Given the description of an element on the screen output the (x, y) to click on. 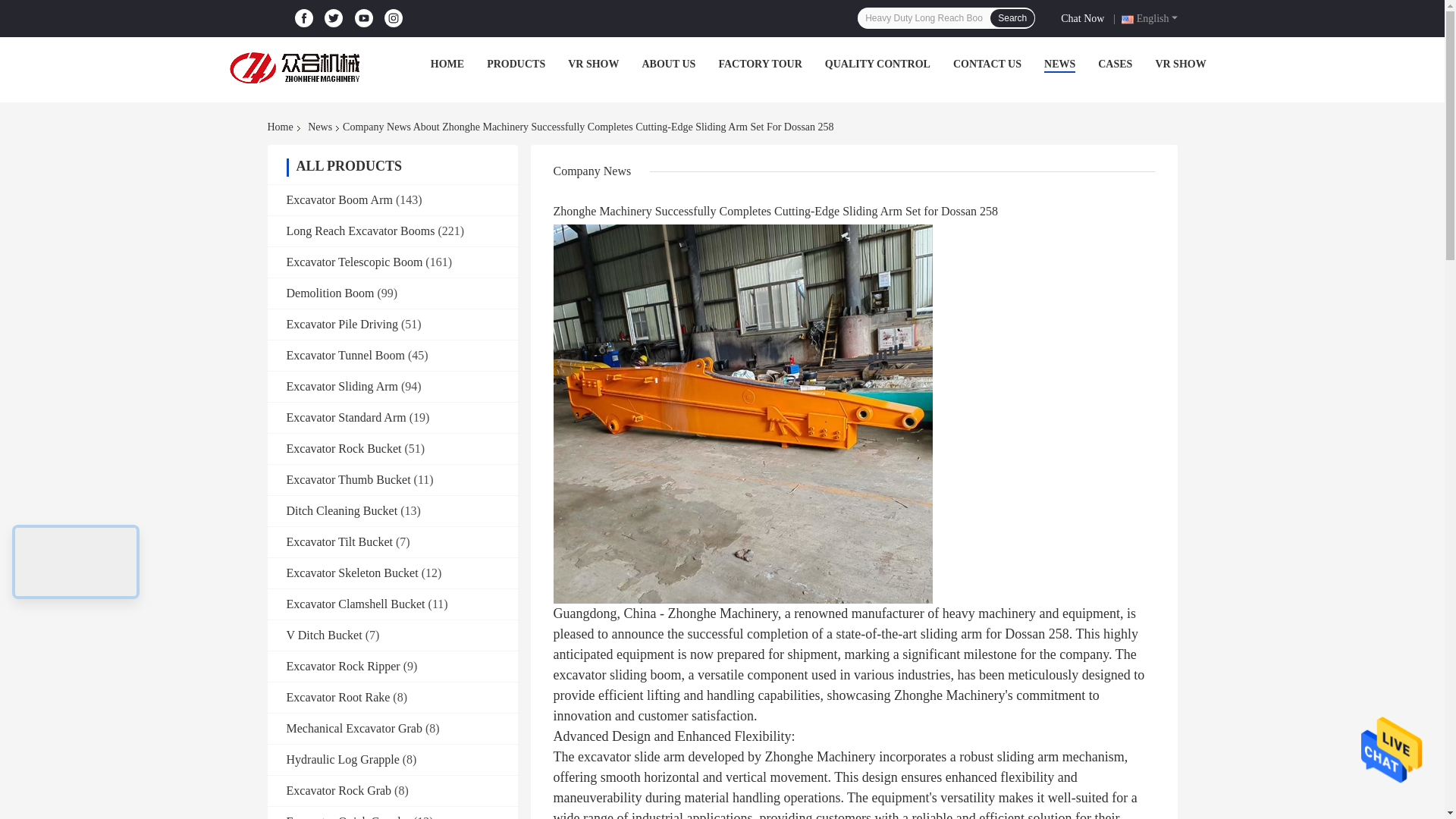
VR SHOW (1179, 63)
Search (1011, 18)
CASES (1114, 63)
QUALITY CONTROL (877, 63)
Home (282, 127)
HOME (447, 63)
PRODUCTS (515, 63)
Chat Now (1085, 17)
FACTORY TOUR (759, 63)
ABOUT US (668, 63)
CONTACT US (987, 63)
Kaiping Zhonghe Machinery Manufacturing Co., Ltd Instagram (393, 18)
NEWS (1059, 63)
Kaiping Zhonghe Machinery Manufacturing Co., Ltd YouTube (363, 18)
Kaiping Zhonghe Machinery Manufacturing Co., Ltd Facebook (303, 18)
